Given the description of an element on the screen output the (x, y) to click on. 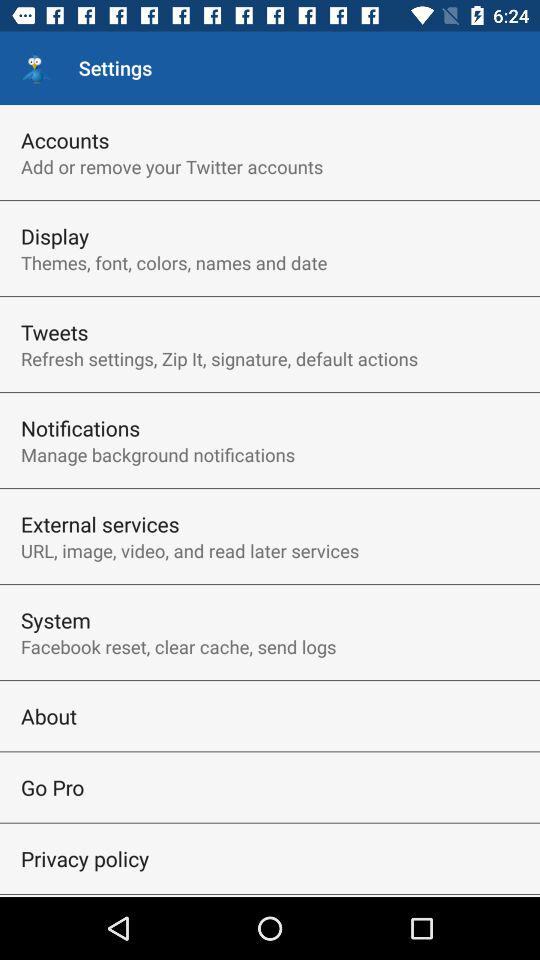
launch icon above the privacy policy item (52, 787)
